Given the description of an element on the screen output the (x, y) to click on. 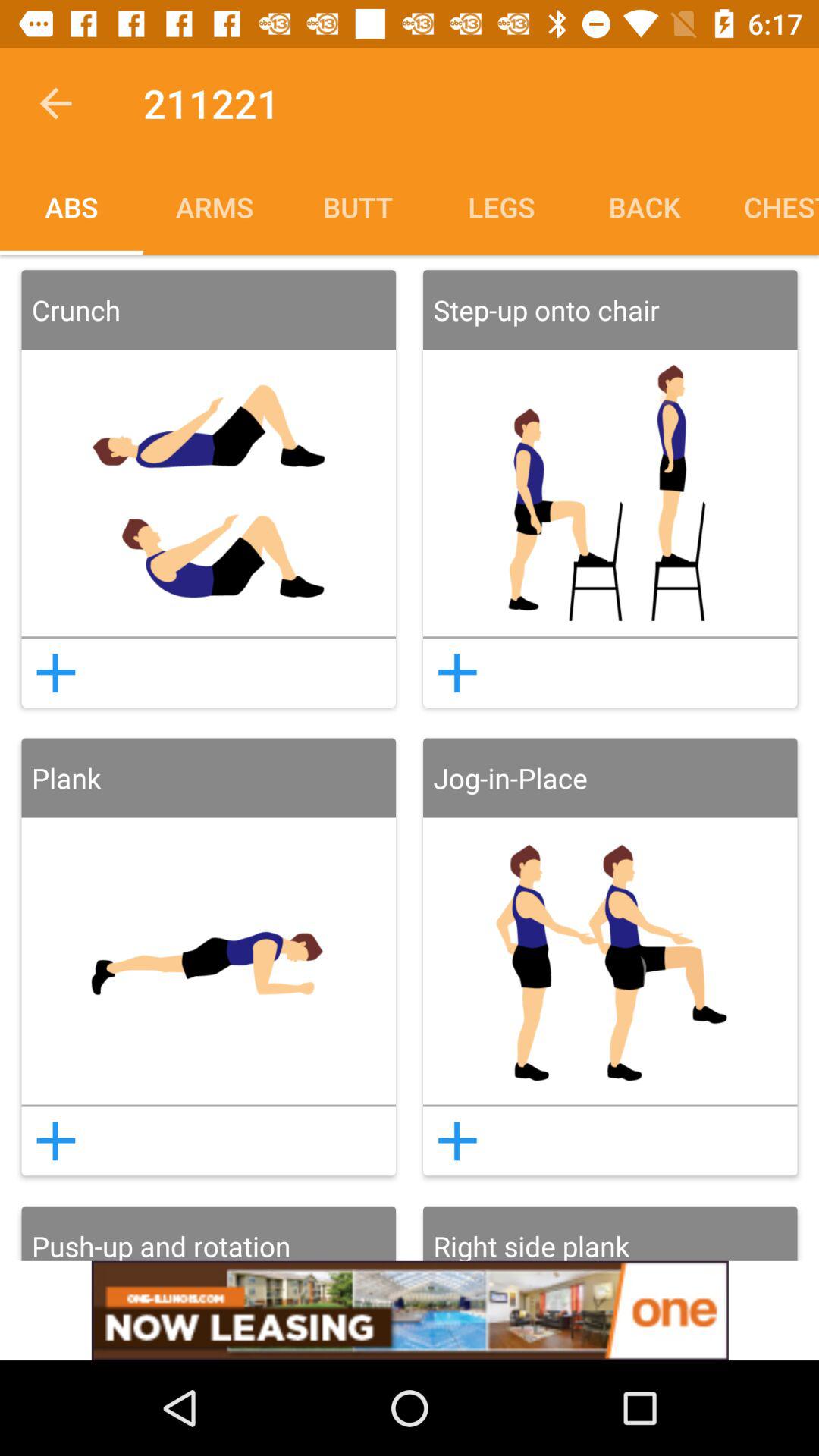
fis button (55, 1140)
